Given the description of an element on the screen output the (x, y) to click on. 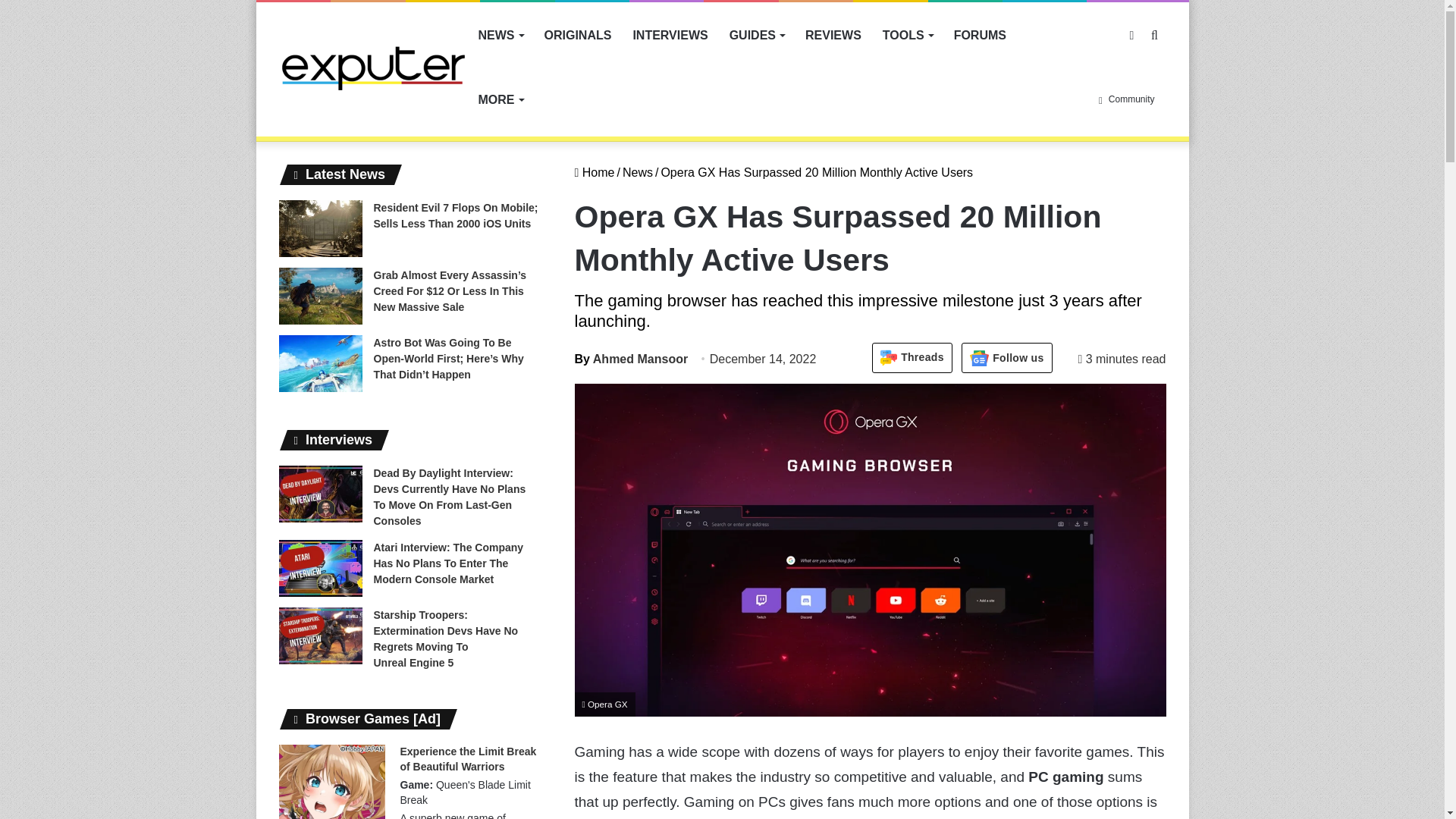
eXputer.com (373, 66)
INTERVIEWS (669, 35)
GUIDES (756, 35)
FORUMS (979, 35)
TOOLS (907, 35)
MORE (499, 99)
Ahmed Mansoor (631, 358)
ORIGINALS (578, 35)
NEWS (499, 35)
REVIEWS (833, 35)
